Given the description of an element on the screen output the (x, y) to click on. 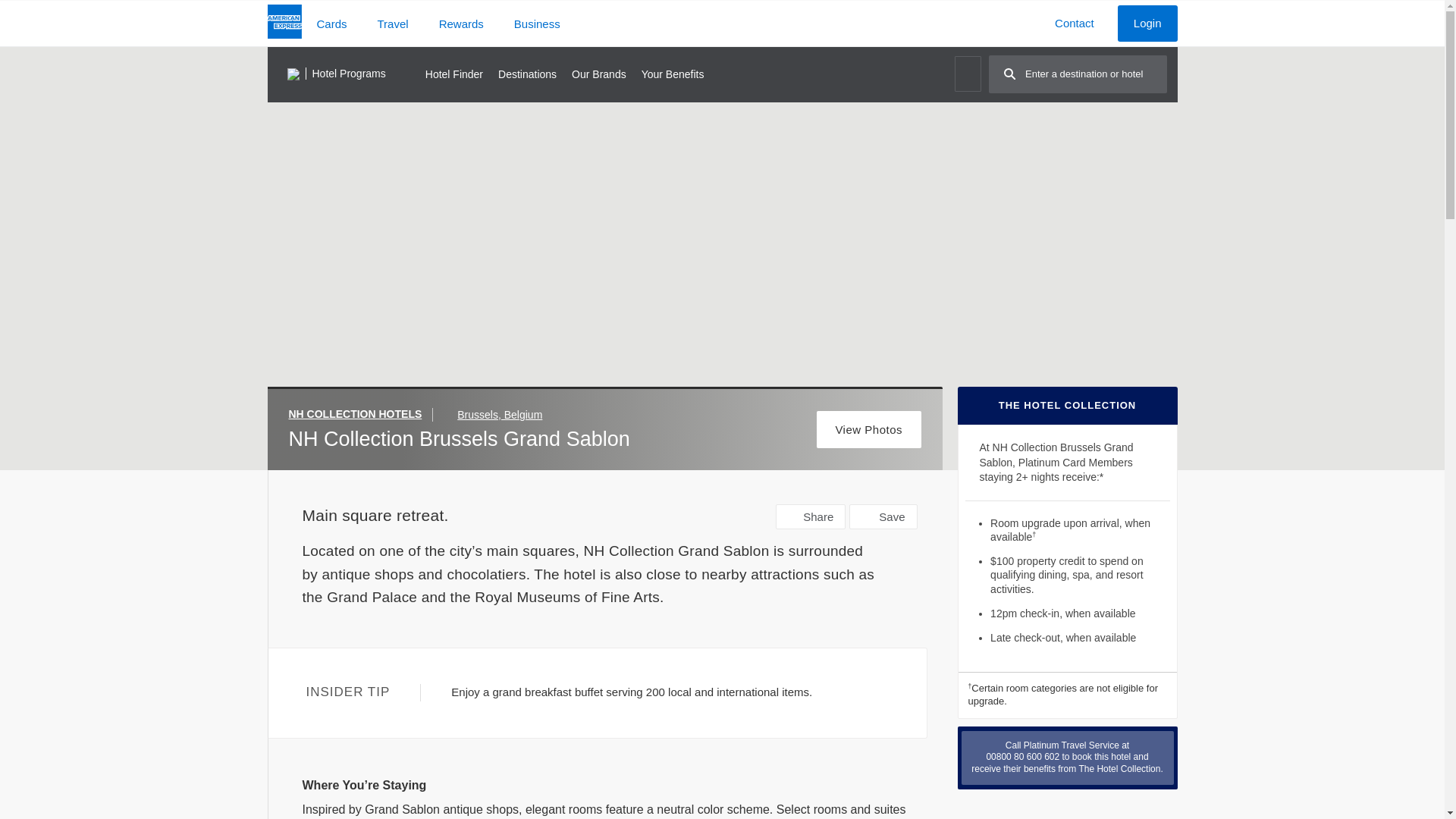
Contact (1074, 23)
Login (1147, 22)
